Given the description of an element on the screen output the (x, y) to click on. 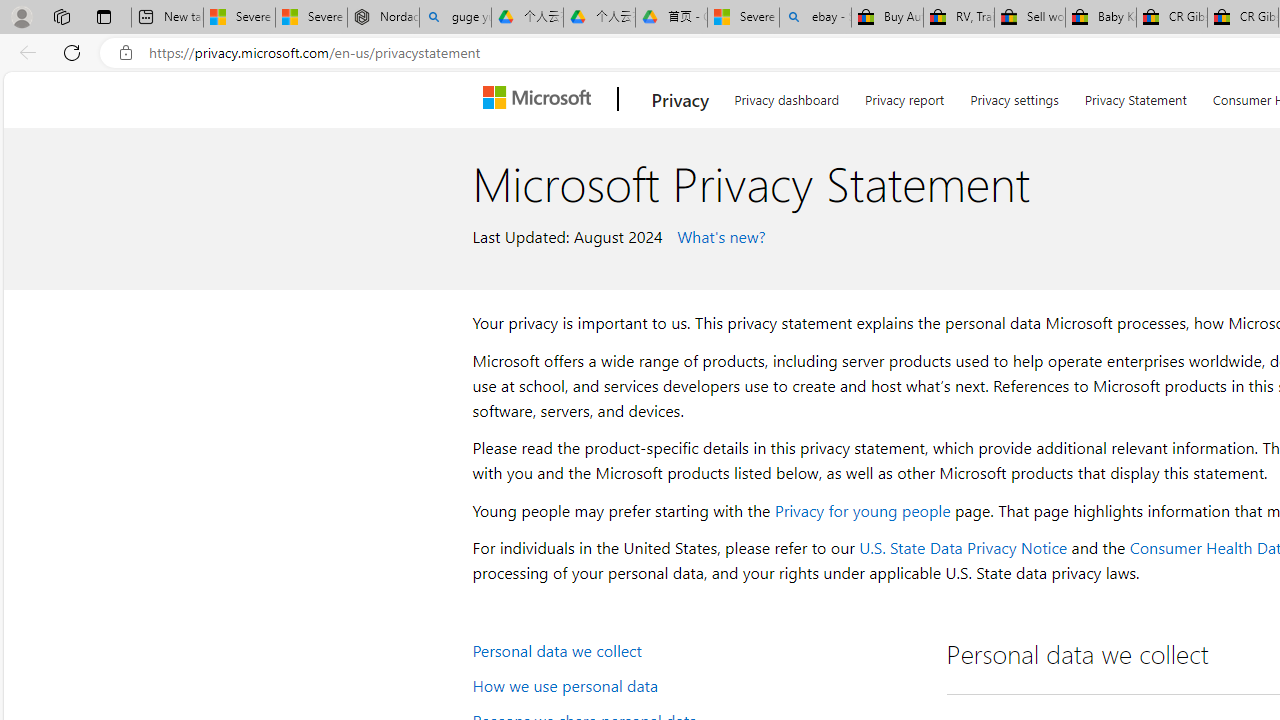
Privacy settings (1014, 96)
Privacy dashboard (786, 96)
Personal data we collect (696, 650)
Privacy for young people (862, 509)
Privacy Statement (1135, 96)
Privacy settings (1014, 96)
Microsoft (541, 99)
Privacy Statement (1135, 96)
Privacy dashboard (786, 96)
